Given the description of an element on the screen output the (x, y) to click on. 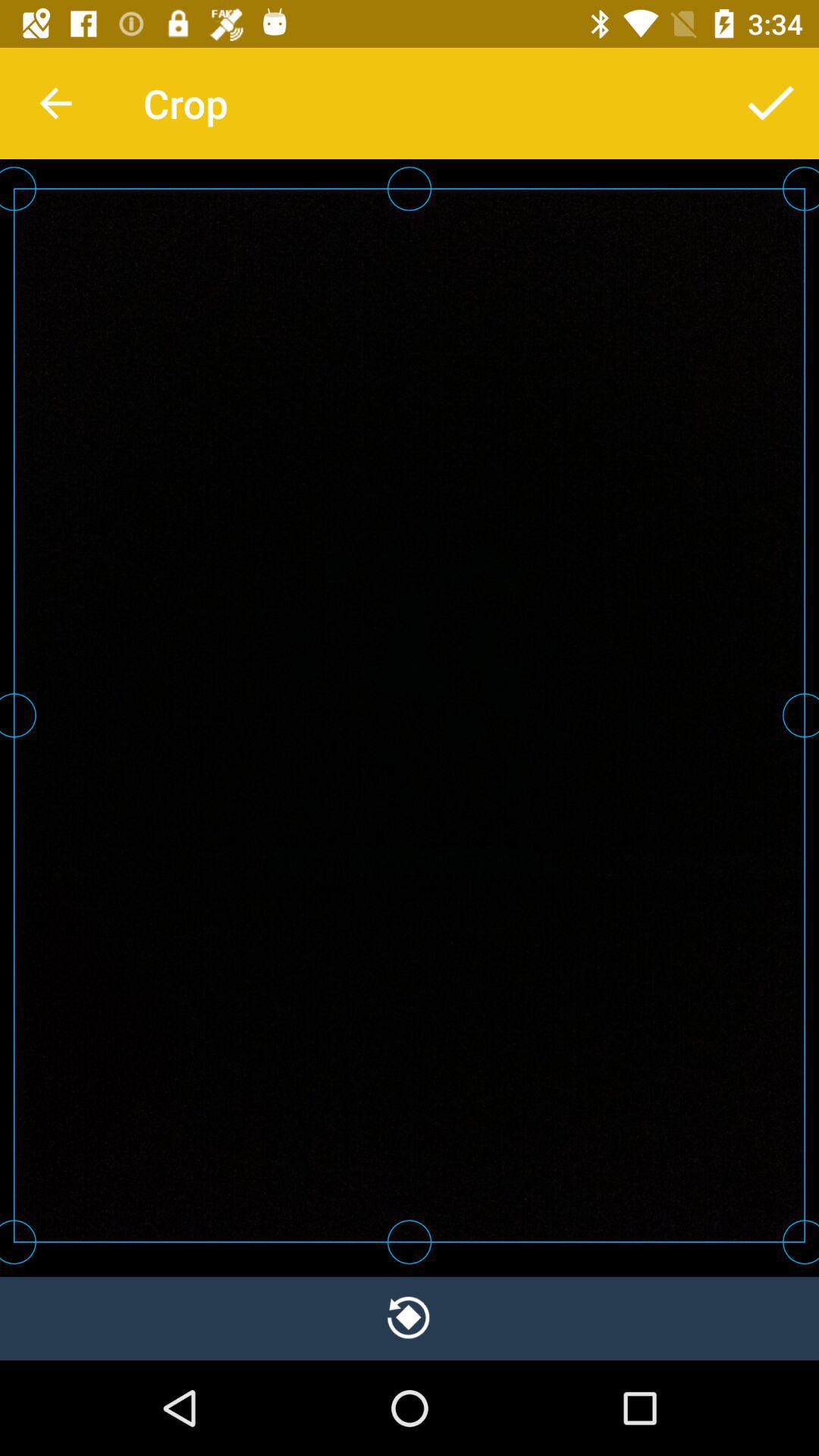
turn off item at the top right corner (771, 103)
